Given the description of an element on the screen output the (x, y) to click on. 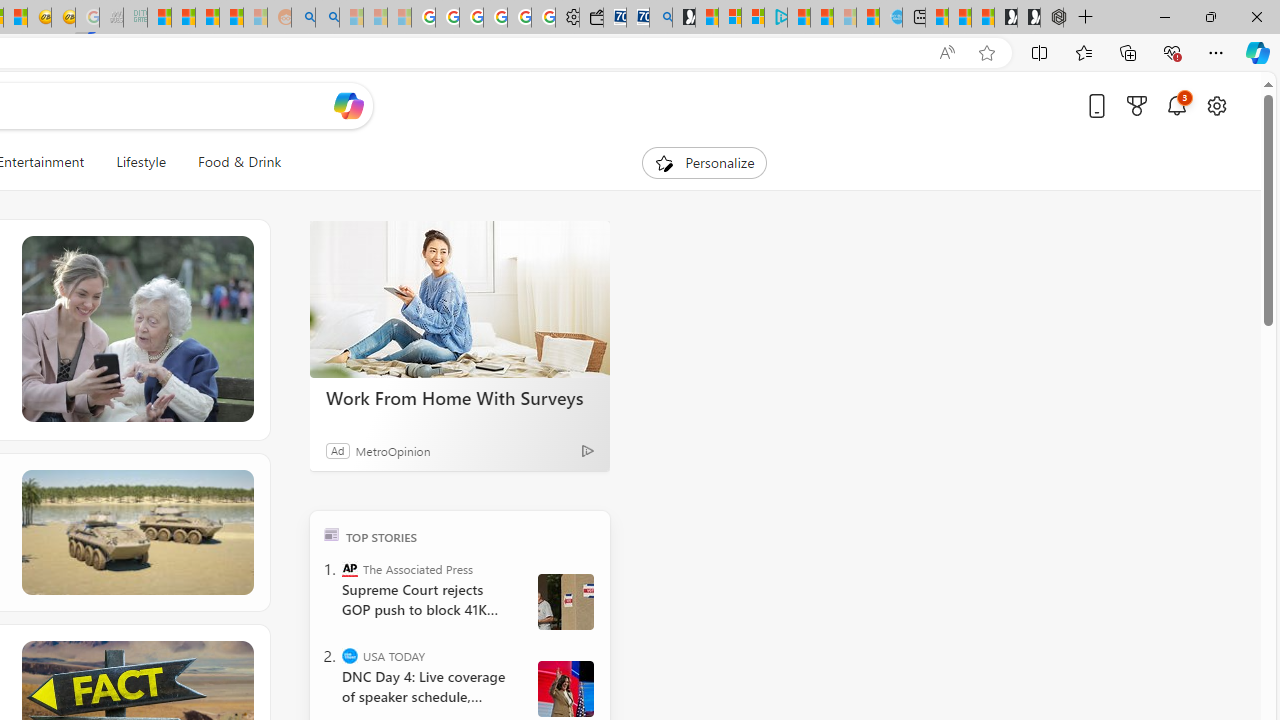
Student Loan Update: Forgiveness Program Ends This Month (231, 17)
